Given the description of an element on the screen output the (x, y) to click on. 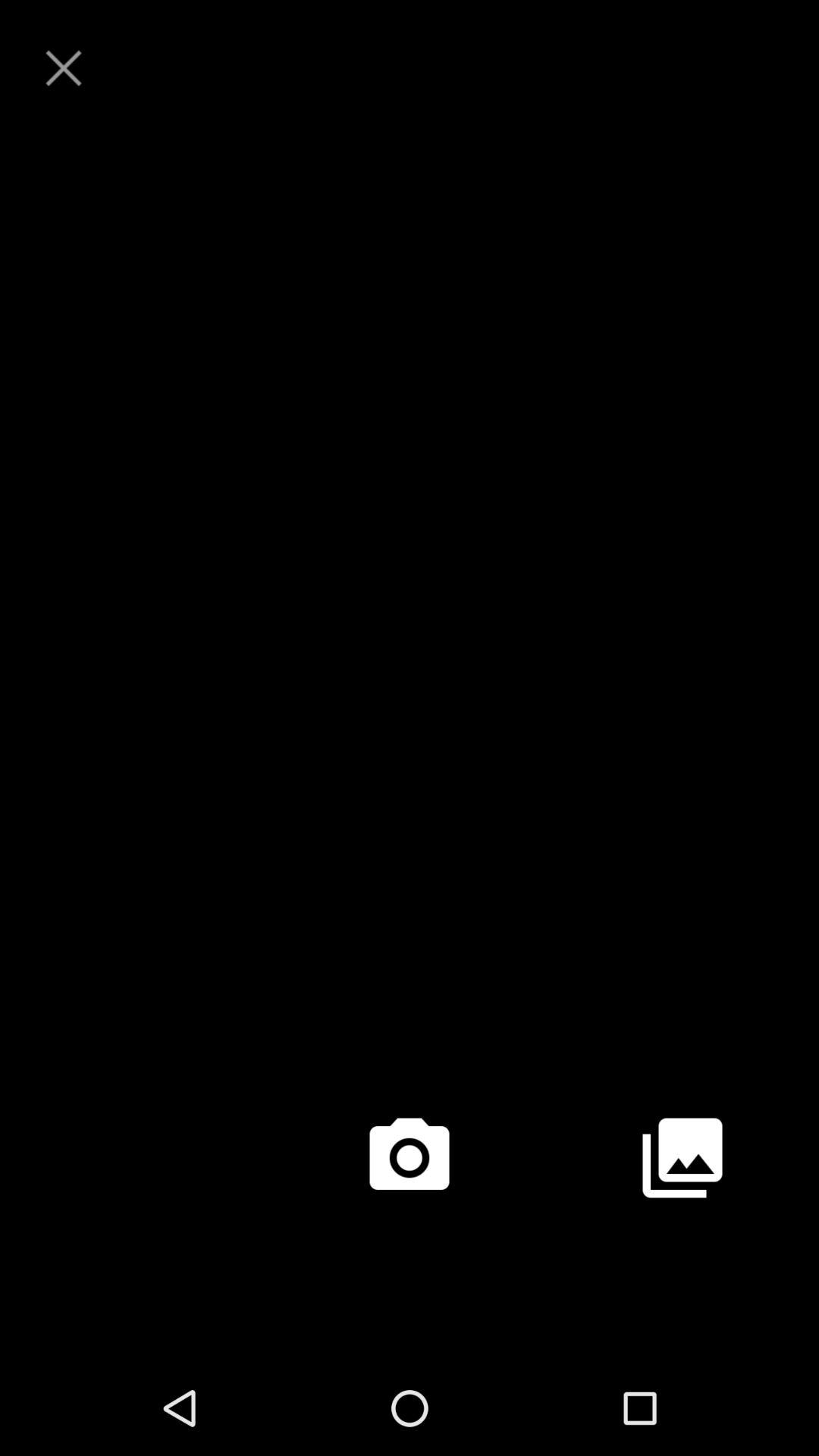
exit/close (63, 68)
